Given the description of an element on the screen output the (x, y) to click on. 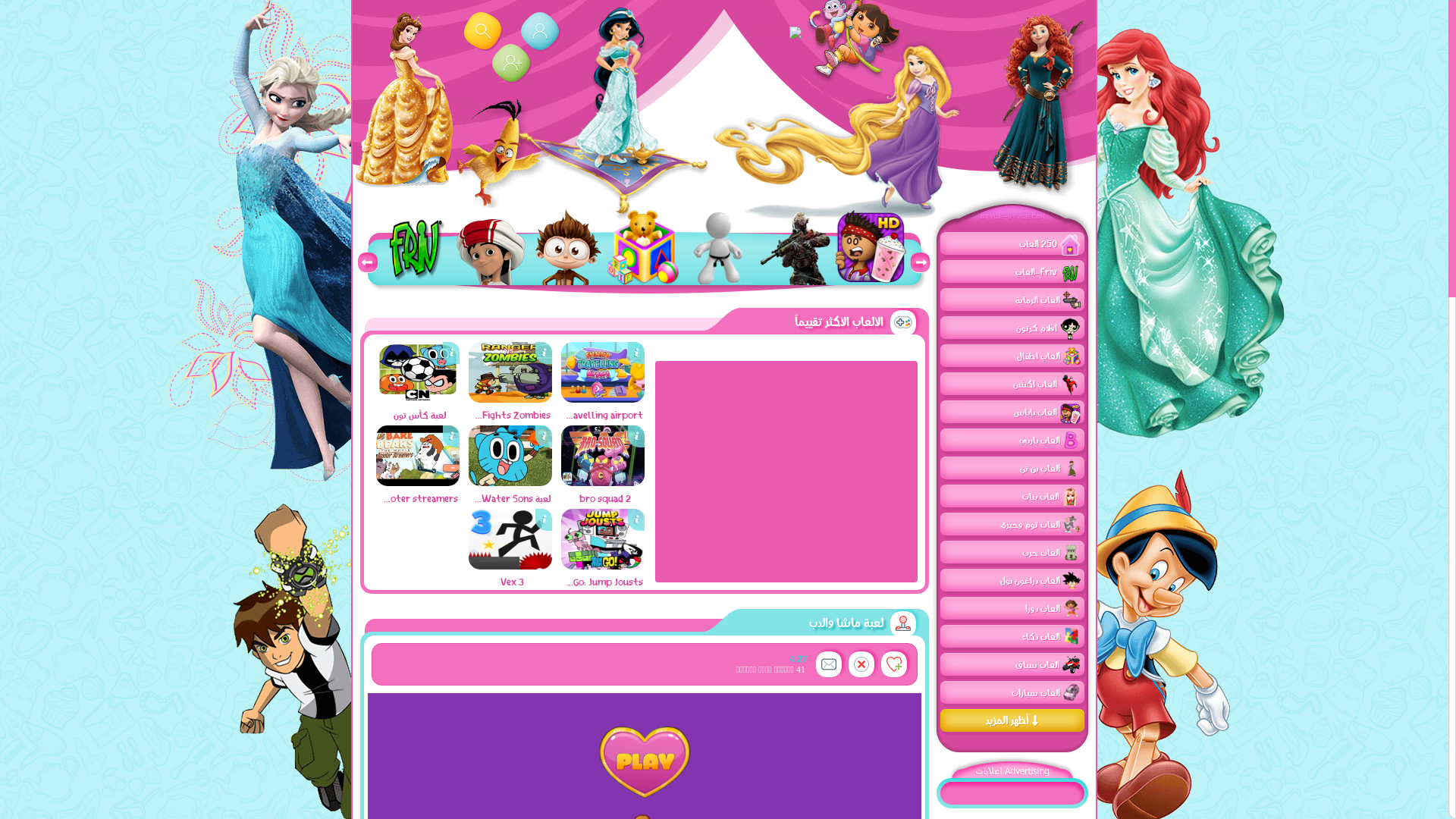
scooter streamers Element type: text (419, 497)
Vex 3 Element type: hover (510, 565)
Teen Titans Go: Jump Jousts Element type: text (604, 581)
Teen Titans Go: Jump Jousts Element type: hover (602, 565)
Ranger Fights Zombies Element type: hover (510, 398)
funny travelling airport Element type: text (604, 414)
bro squad 2 Element type: hover (602, 482)
Vex 3 Element type: hover (510, 538)
Advertisement Element type: hover (785, 470)
funny travelling airport Element type: hover (602, 372)
scooter streamers Element type: hover (417, 482)
bro squad 2 Element type: text (604, 497)
scooter streamers Element type: hover (417, 455)
funny travelling airport Element type: hover (602, 398)
Ranger Fights Zombies Element type: hover (510, 372)
bro squad 2 Element type: hover (602, 455)
Teen Titans Go: Jump Jousts Element type: hover (602, 538)
Ranger Fights Zombies Element type: text (512, 414)
0 Element type: text (1013, 721)
Vex 3 Element type: text (512, 581)
